Given the description of an element on the screen output the (x, y) to click on. 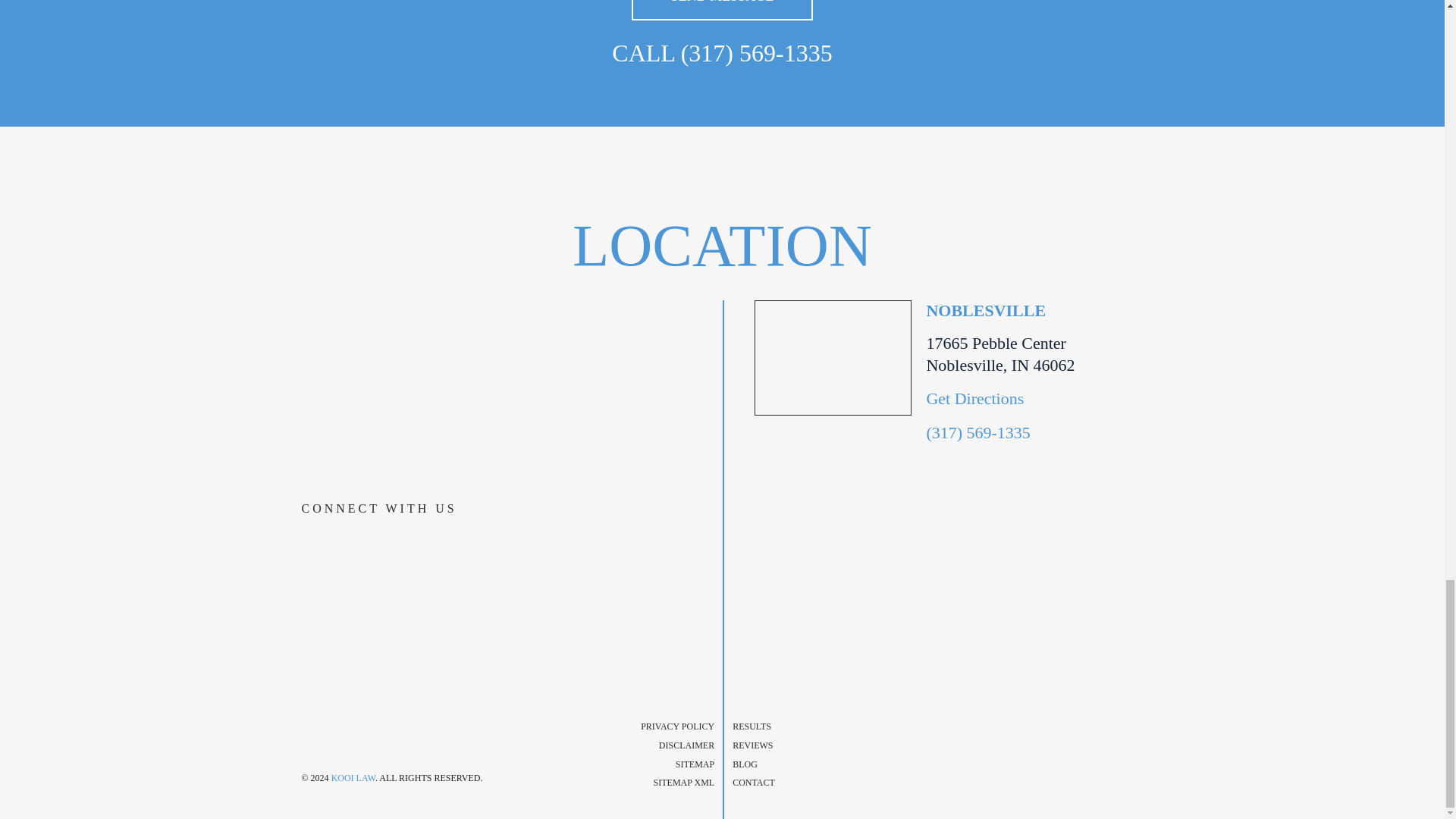
Send Message (722, 10)
Kooi law (396, 712)
Get Directions (974, 398)
Send Message (722, 10)
